Given the description of an element on the screen output the (x, y) to click on. 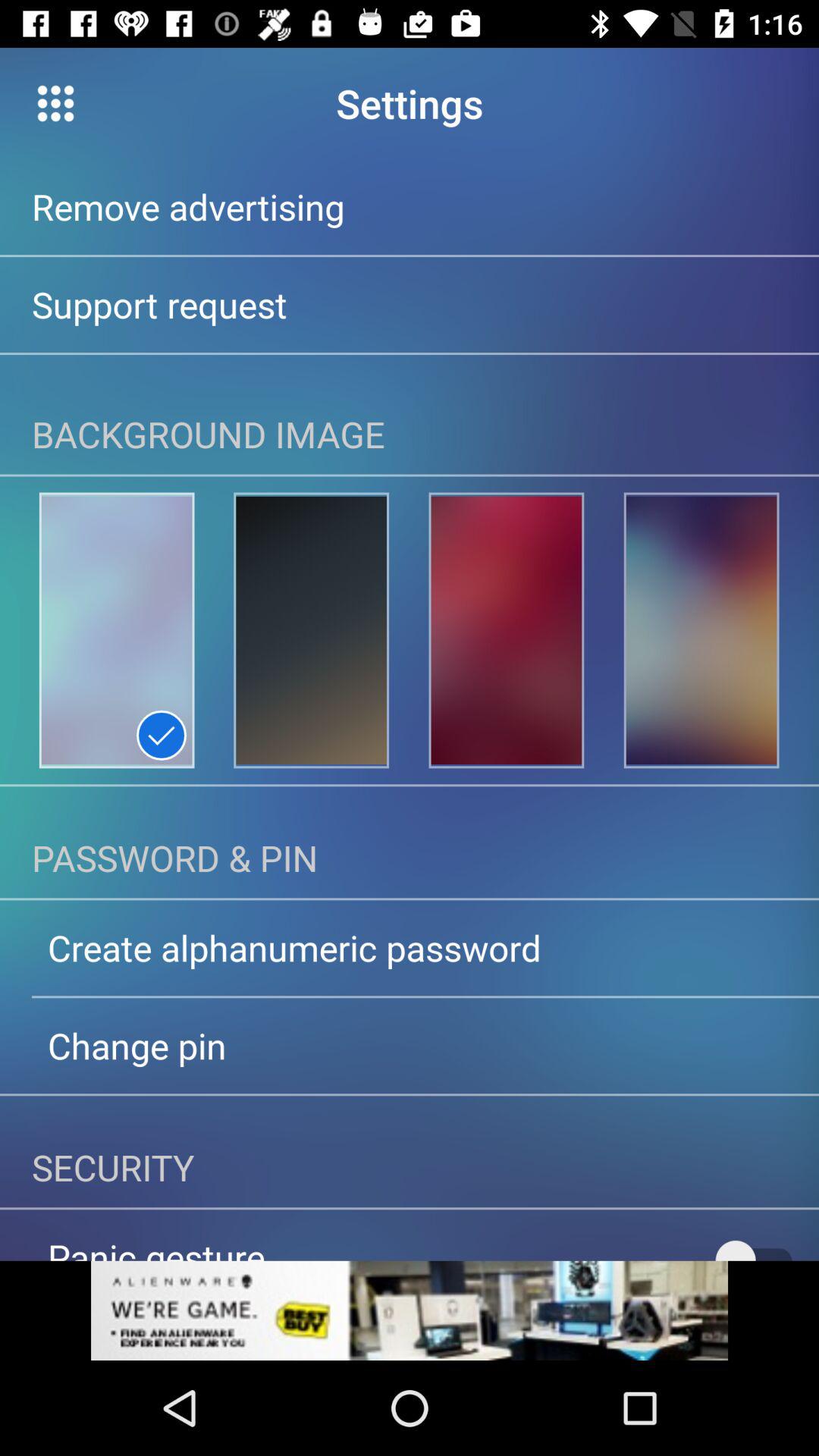
main menu (55, 103)
